Given the description of an element on the screen output the (x, y) to click on. 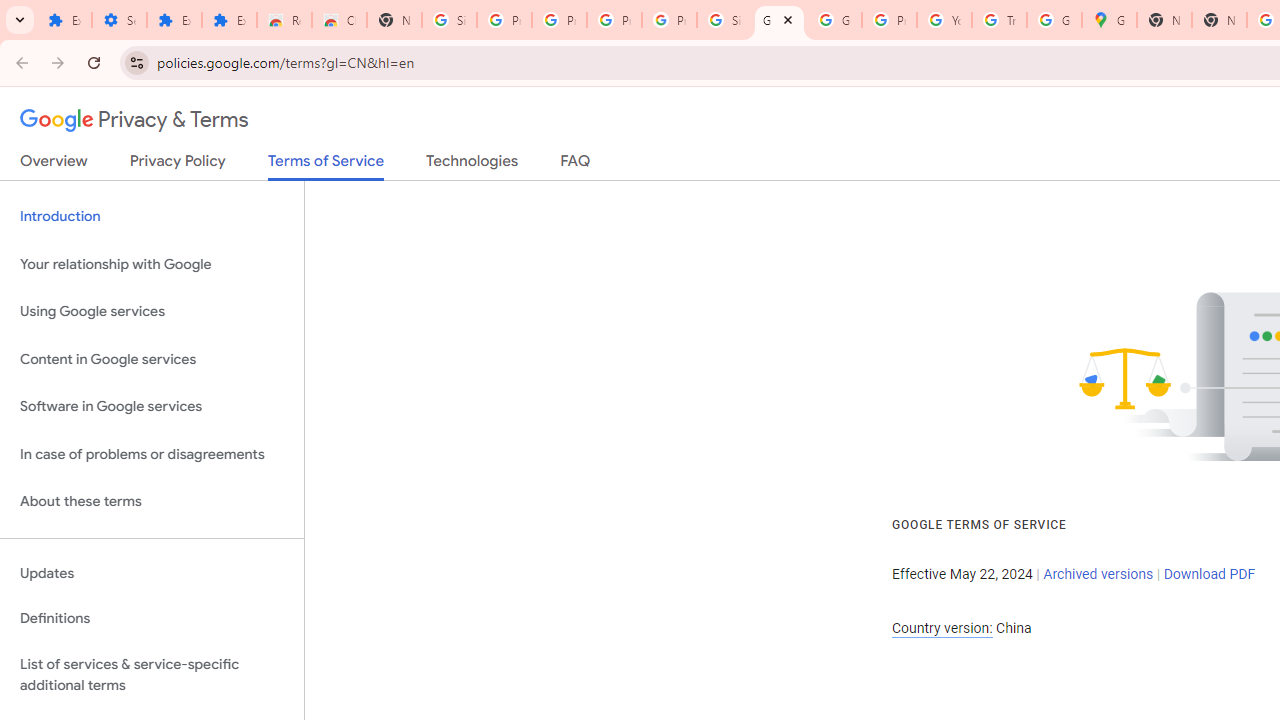
Introduction (152, 216)
Country version: (942, 628)
List of services & service-specific additional terms (152, 674)
Your relationship with Google (152, 263)
Chrome Web Store - Themes (339, 20)
Extensions (64, 20)
New Tab (1163, 20)
Download PDF (1209, 574)
